Given the description of an element on the screen output the (x, y) to click on. 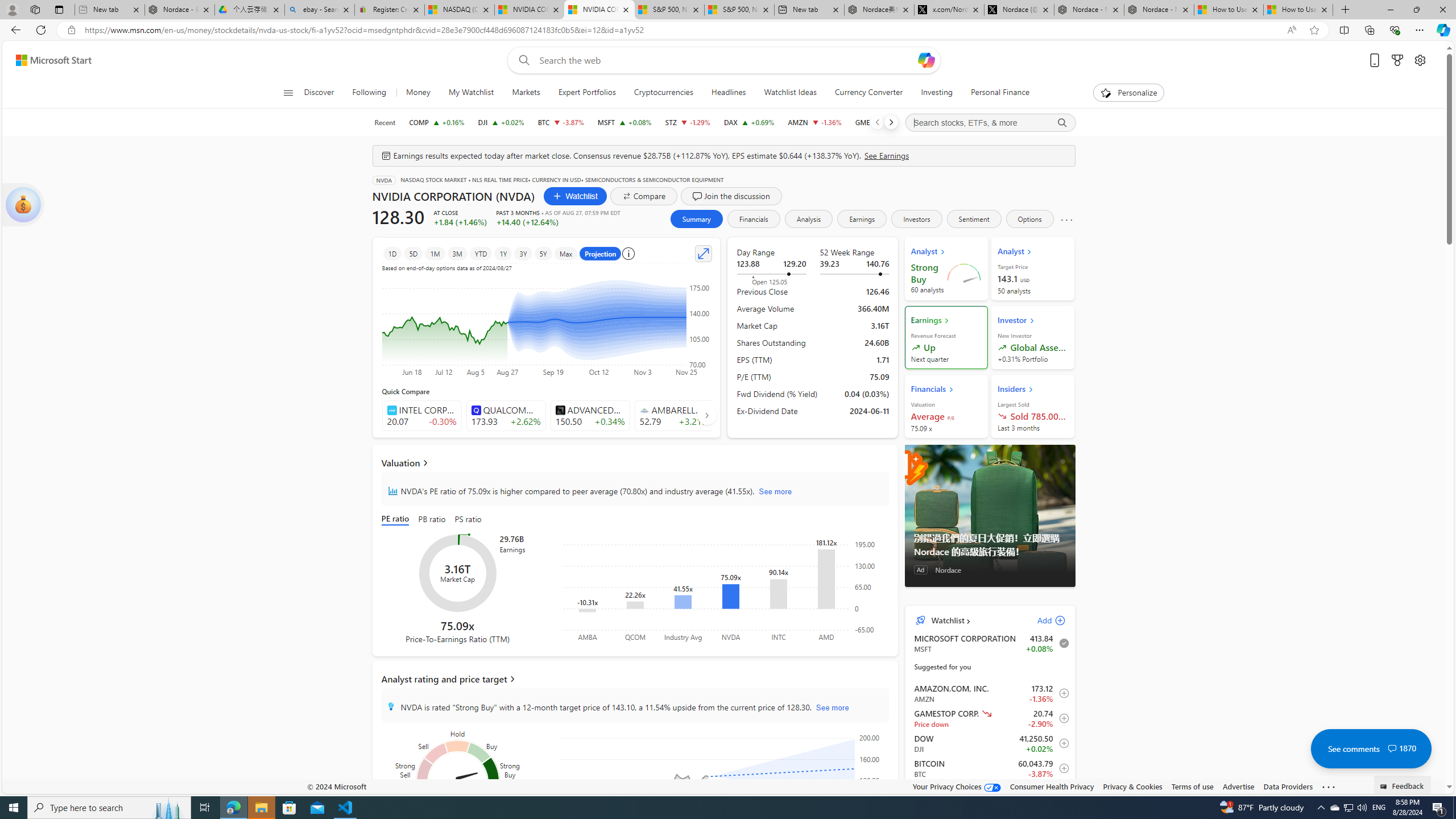
To get missing image descriptions, open the context menu. (1105, 92)
Consumer Health Privacy (1051, 786)
3Y (522, 253)
5D (413, 253)
Your Privacy Choices (956, 786)
Class: autoSuggestIcon-DS-EntryPoint1-1 (644, 409)
Expert Portfolios (586, 92)
Valuation (635, 462)
YTD (480, 253)
MSFT MICROSOFT CORPORATION increase 413.84 +0.35 +0.08% (623, 122)
